Given the description of an element on the screen output the (x, y) to click on. 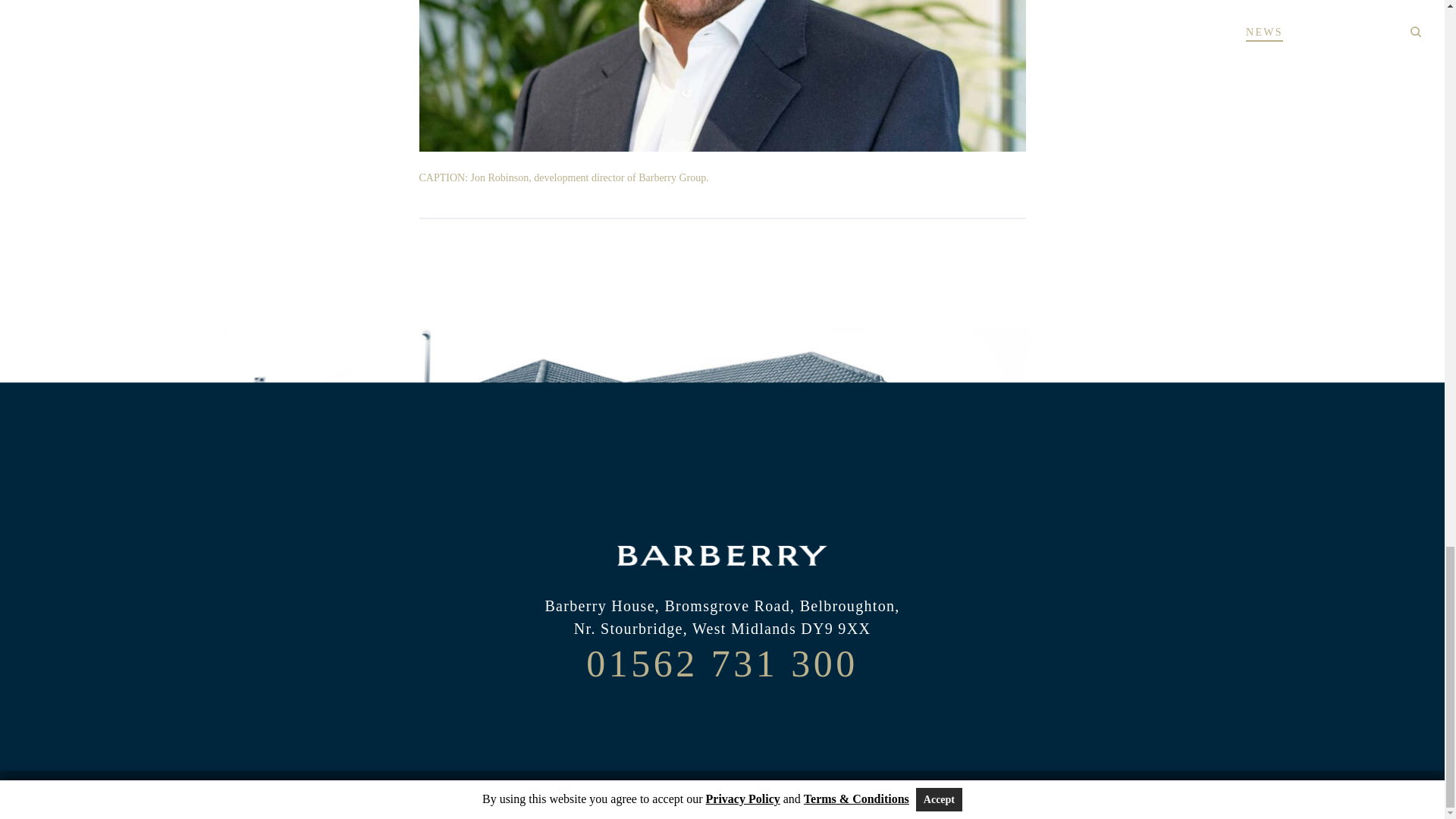
LINKEDIN (722, 720)
Design by Bawk Design (820, 794)
01562 731 300 (722, 663)
barberry-footer-logo (722, 555)
Design by Bawk Design (820, 794)
01562 731 300 (722, 663)
